Given the description of an element on the screen output the (x, y) to click on. 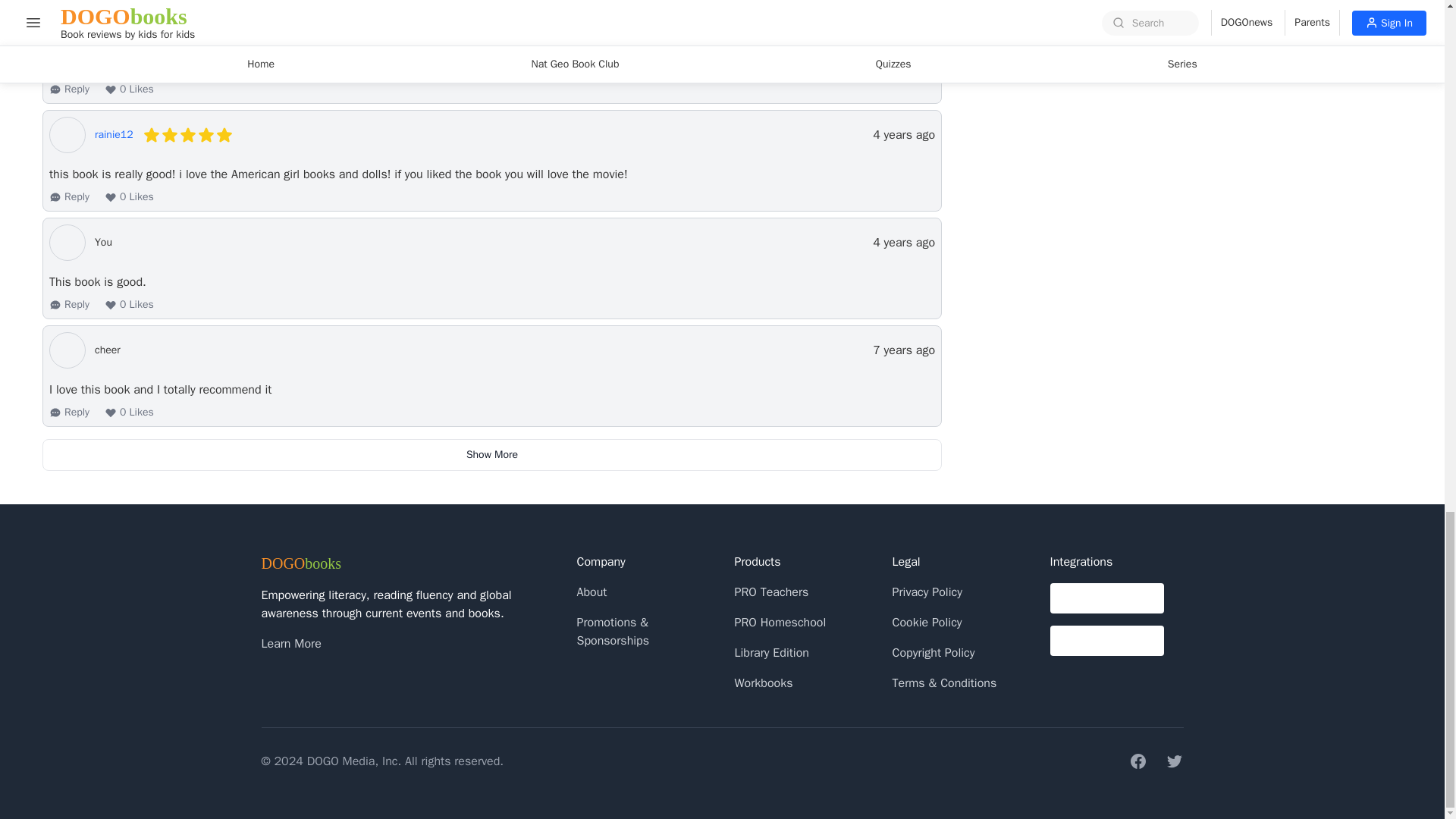
May 22, 2020 (903, 27)
March 26, 2020 (903, 242)
April 20, 2020 (903, 135)
Reply (68, 89)
fantasyreader65 (132, 27)
December 10, 2017 (903, 350)
